Given the description of an element on the screen output the (x, y) to click on. 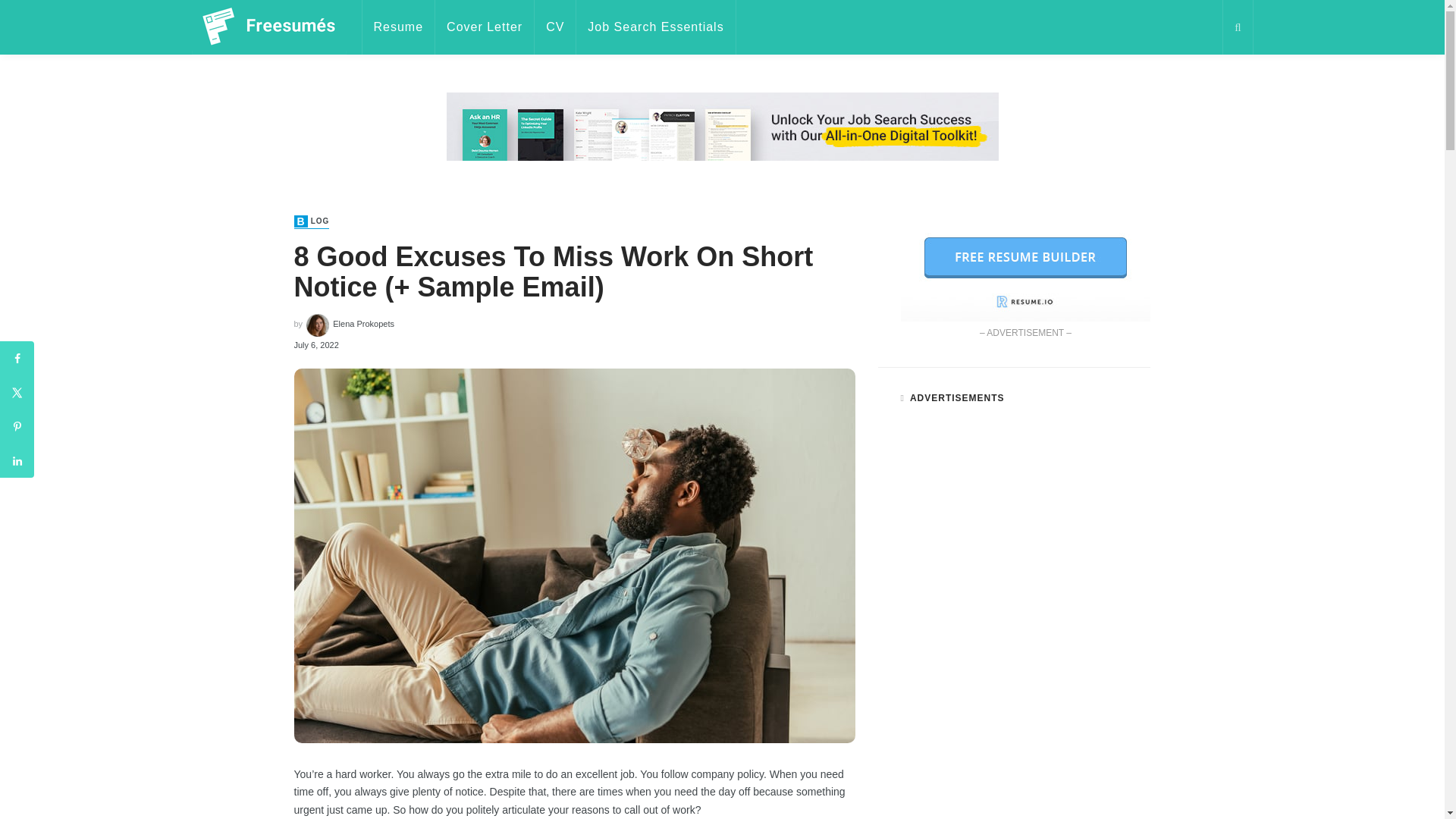
Cover Letter (484, 27)
Advertisement (721, 194)
Resume (398, 27)
Freesumes.com (268, 26)
Blog (312, 221)
